Given the description of an element on the screen output the (x, y) to click on. 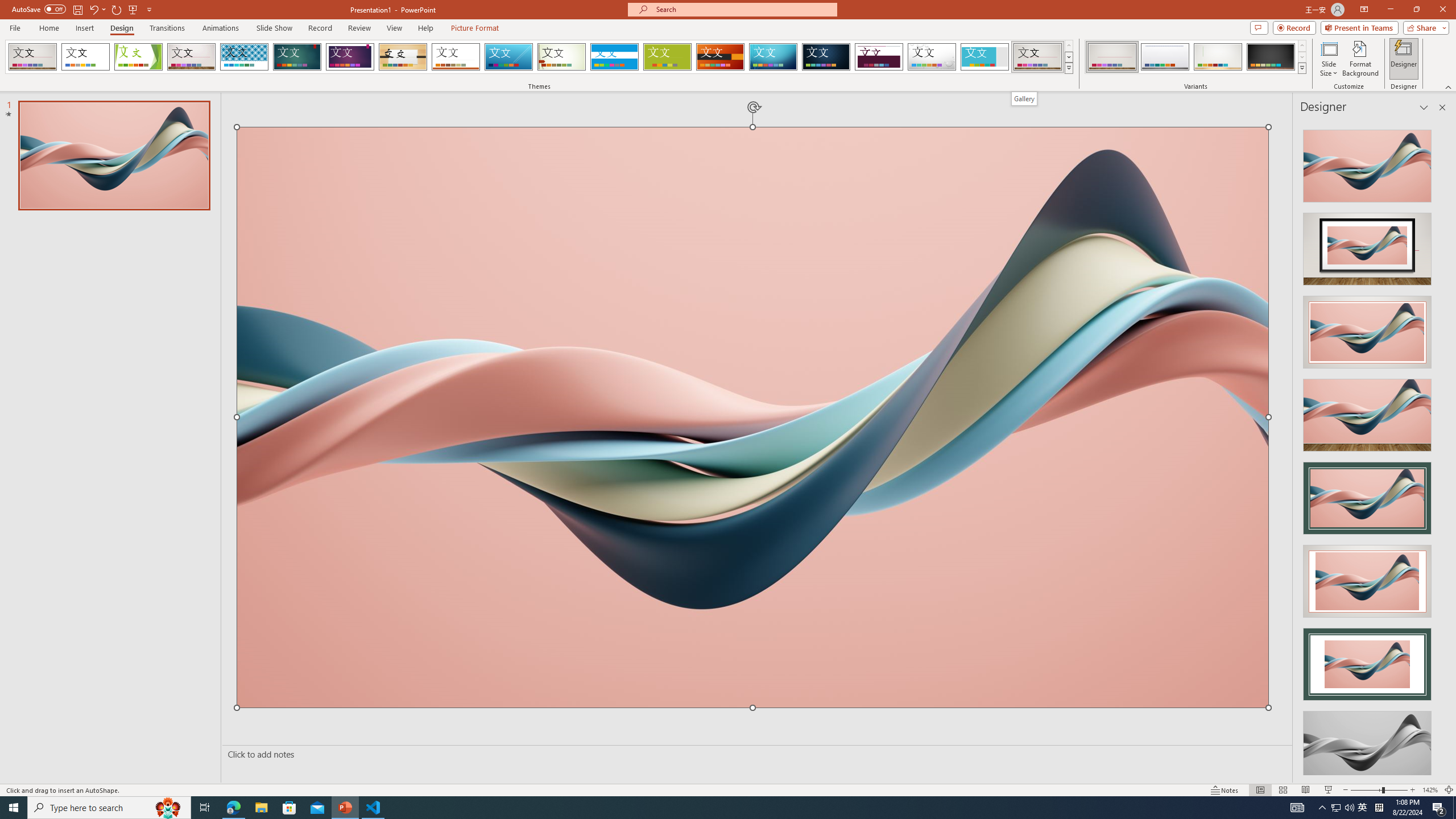
Organic (403, 56)
Circuit (772, 56)
